Given the description of an element on the screen output the (x, y) to click on. 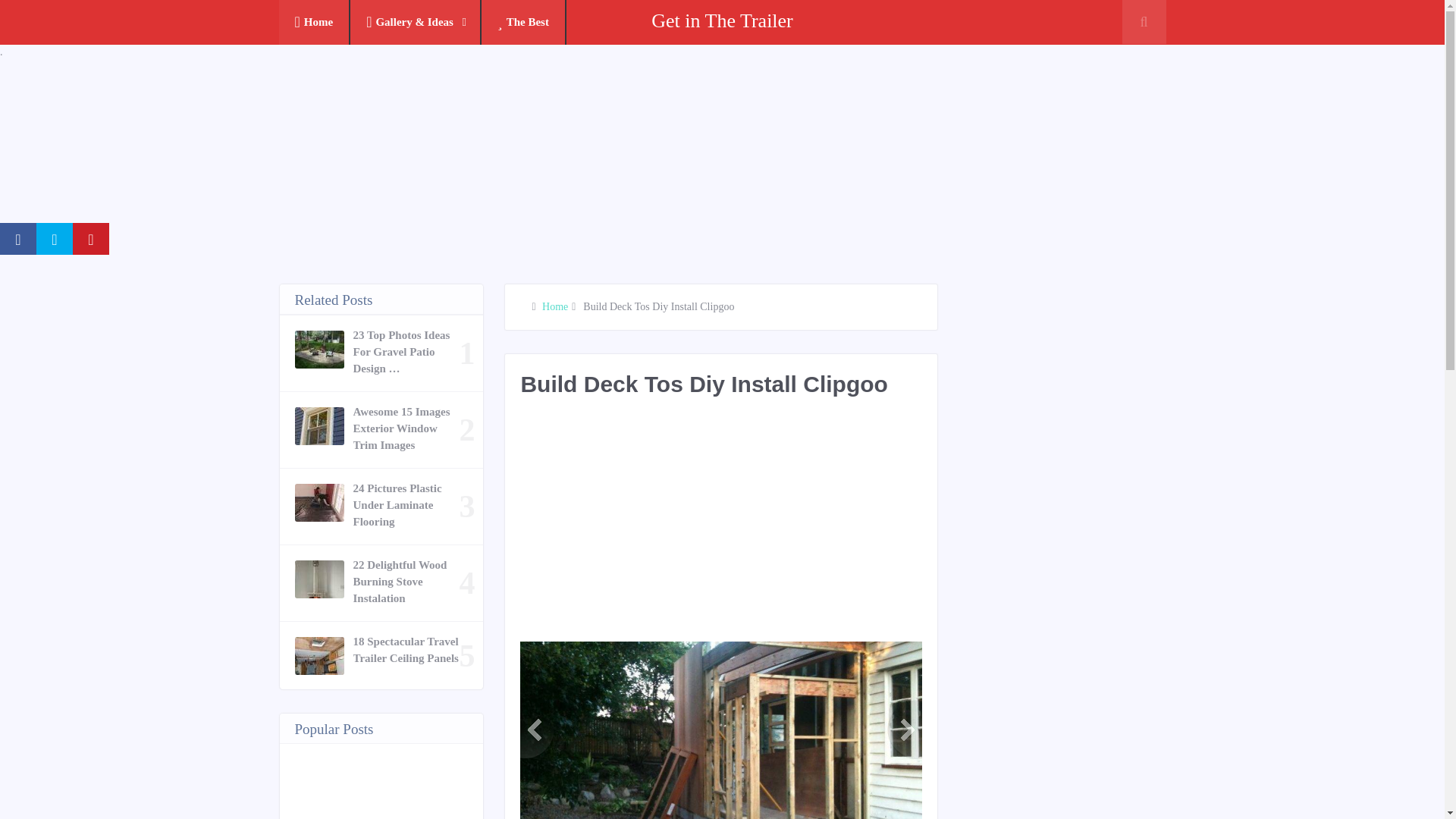
Awesome 15 Images Exterior Window Trim Images (406, 428)
22 Delightful Wood Burning Stove Instalation (406, 581)
24 Pictures Plastic Under Laminate Flooring (406, 504)
Advertisement (795, 527)
Awesome 15 Images Exterior Window Trim Images (406, 428)
23 Top Photos Ideas For Gravel Patio Design Pictures (406, 351)
24 Pictures Plastic Under Laminate Flooring (406, 504)
The Best (523, 22)
Get in The Trailer (721, 20)
Home (314, 22)
Home (554, 306)
